Given the description of an element on the screen output the (x, y) to click on. 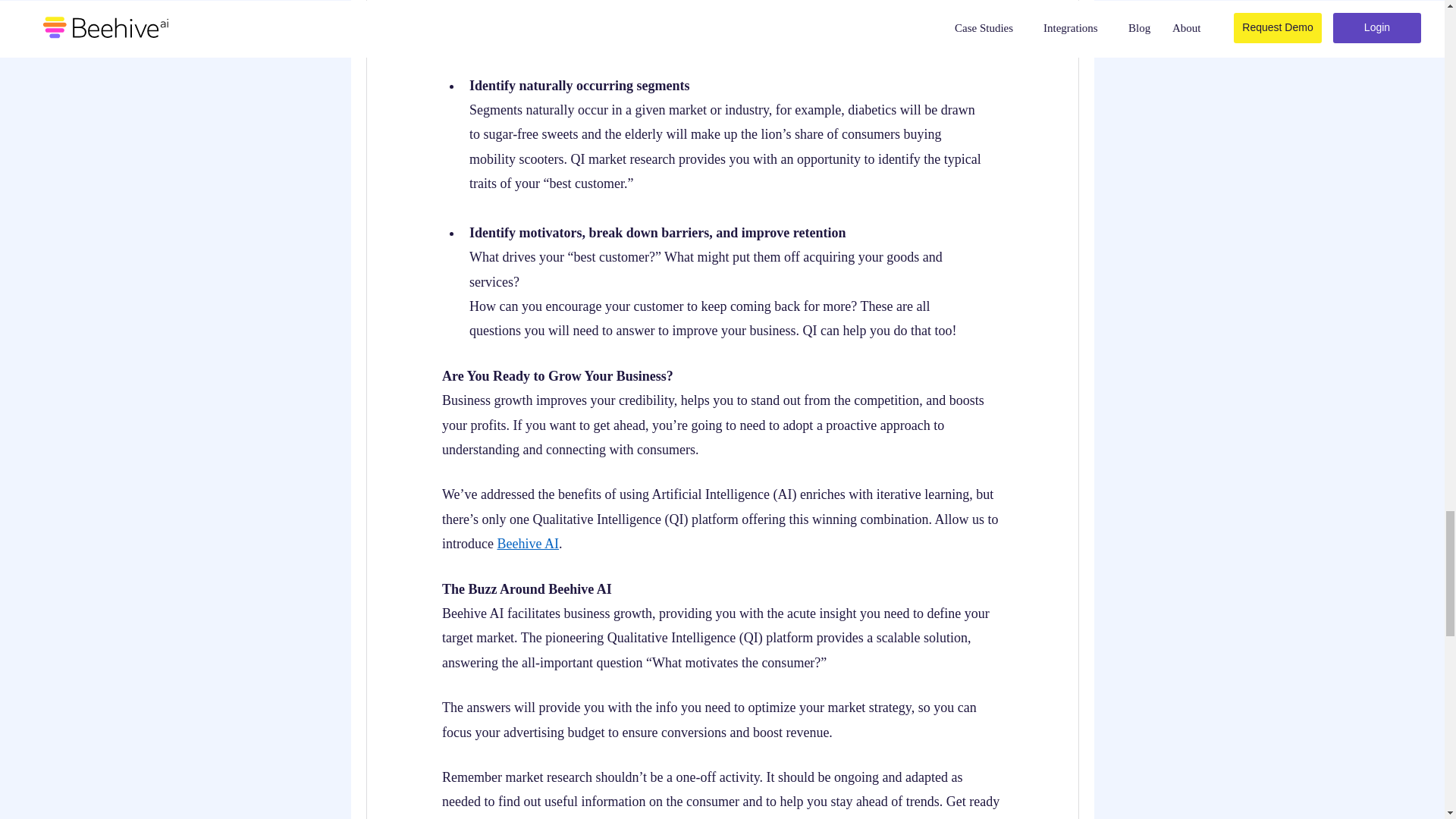
Beehive AI (526, 543)
